Given the description of an element on the screen output the (x, y) to click on. 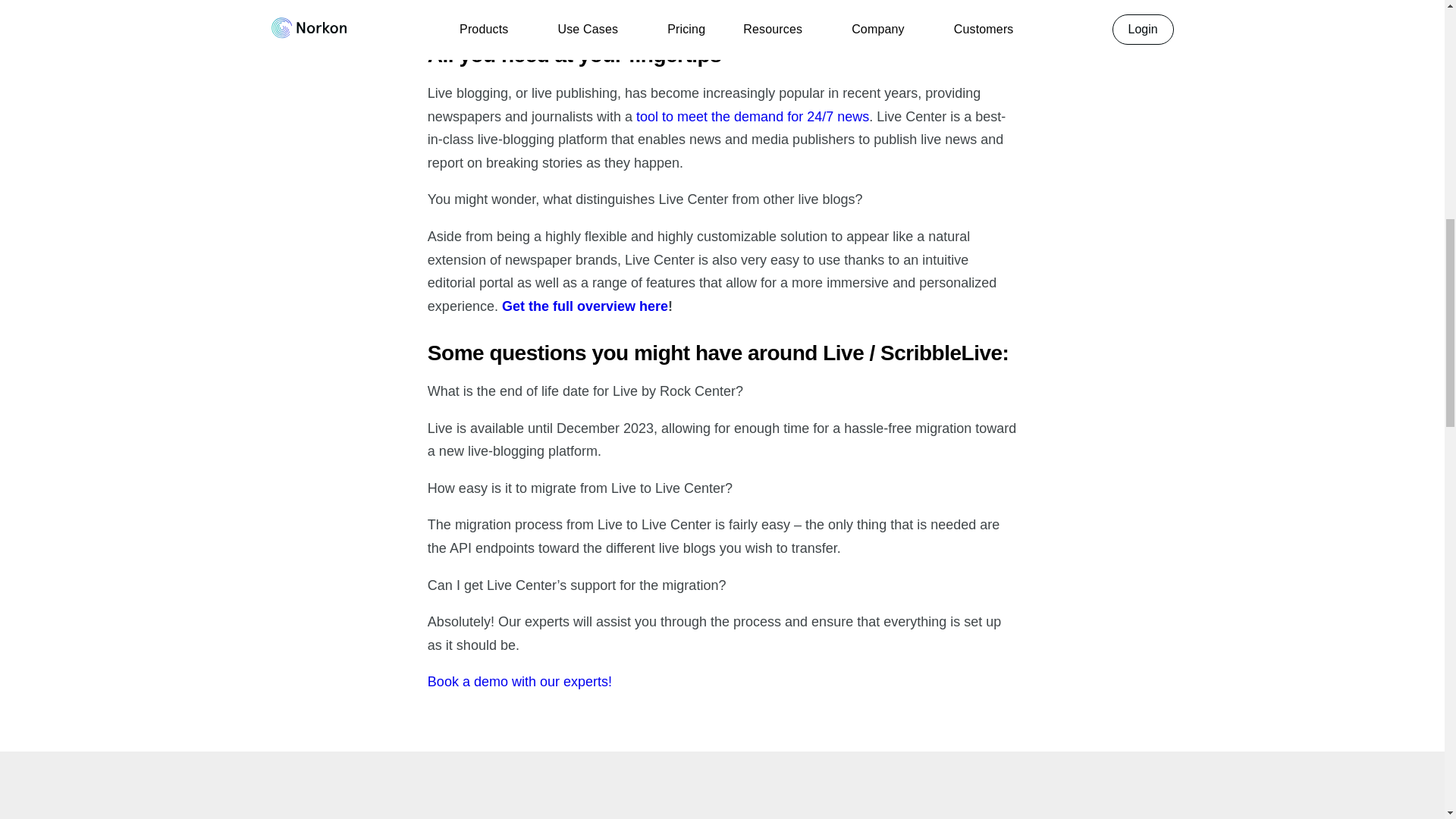
Book a demo with our experts! (519, 681)
What is the end of life date for Live by Rock Center? (585, 391)
Get the full overview here (585, 305)
How easy is it to migrate from Live to Live Center? (580, 488)
